Given the description of an element on the screen output the (x, y) to click on. 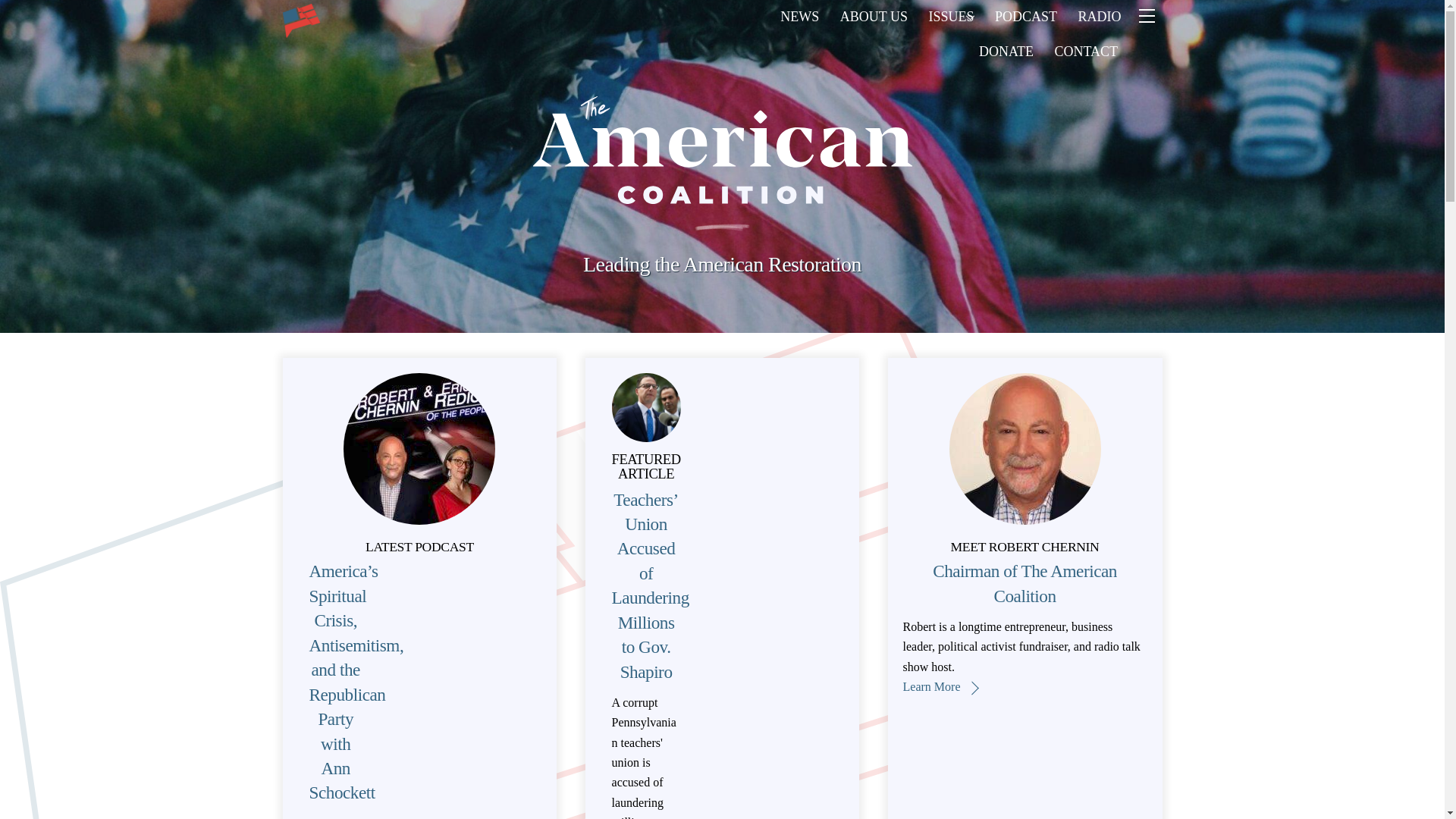
RADIO (1099, 17)
DONATE (1005, 52)
CONTACT (1086, 52)
underline (722, 227)
NEWS (799, 17)
ISSUES (951, 17)
PODCAST (1025, 17)
Robert-B-Chernin (1024, 448)
favicon (301, 21)
Josh Shapiro (646, 407)
American-Coalition-logotype-white (721, 150)
ABOUT US (873, 17)
Menu (932, 34)
